Given the description of an element on the screen output the (x, y) to click on. 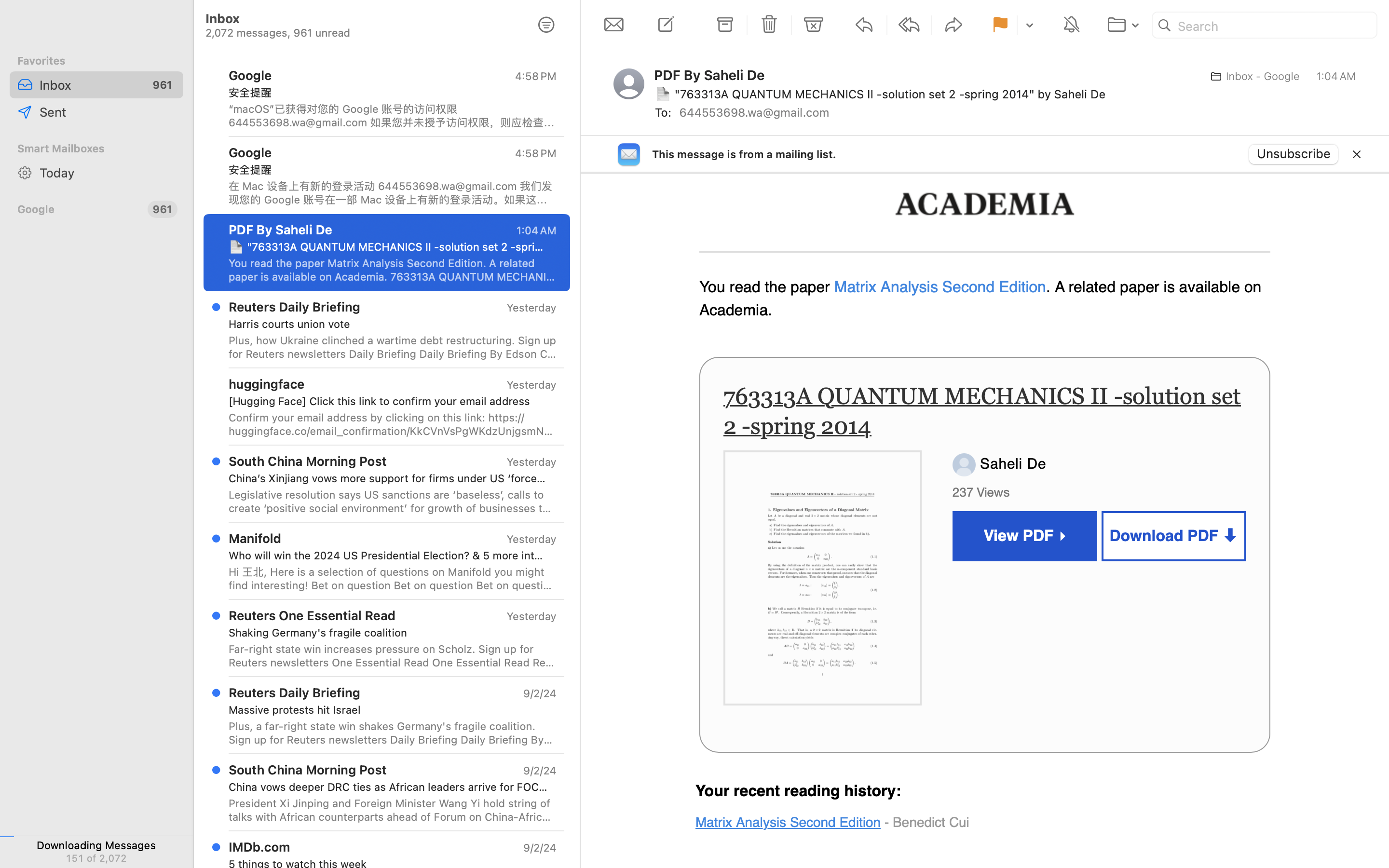
0.0 Element type: AXValueIndicator (573, 63)
Massive protests hit Israel Element type: AXStaticText (388, 709)
4:58 PM Element type: AXStaticText (535, 75)
Google Element type: AXStaticText (78, 209)
[Hugging Face] Click this link to confirm your email address Element type: AXStaticText (388, 400)
